Given the description of an element on the screen output the (x, y) to click on. 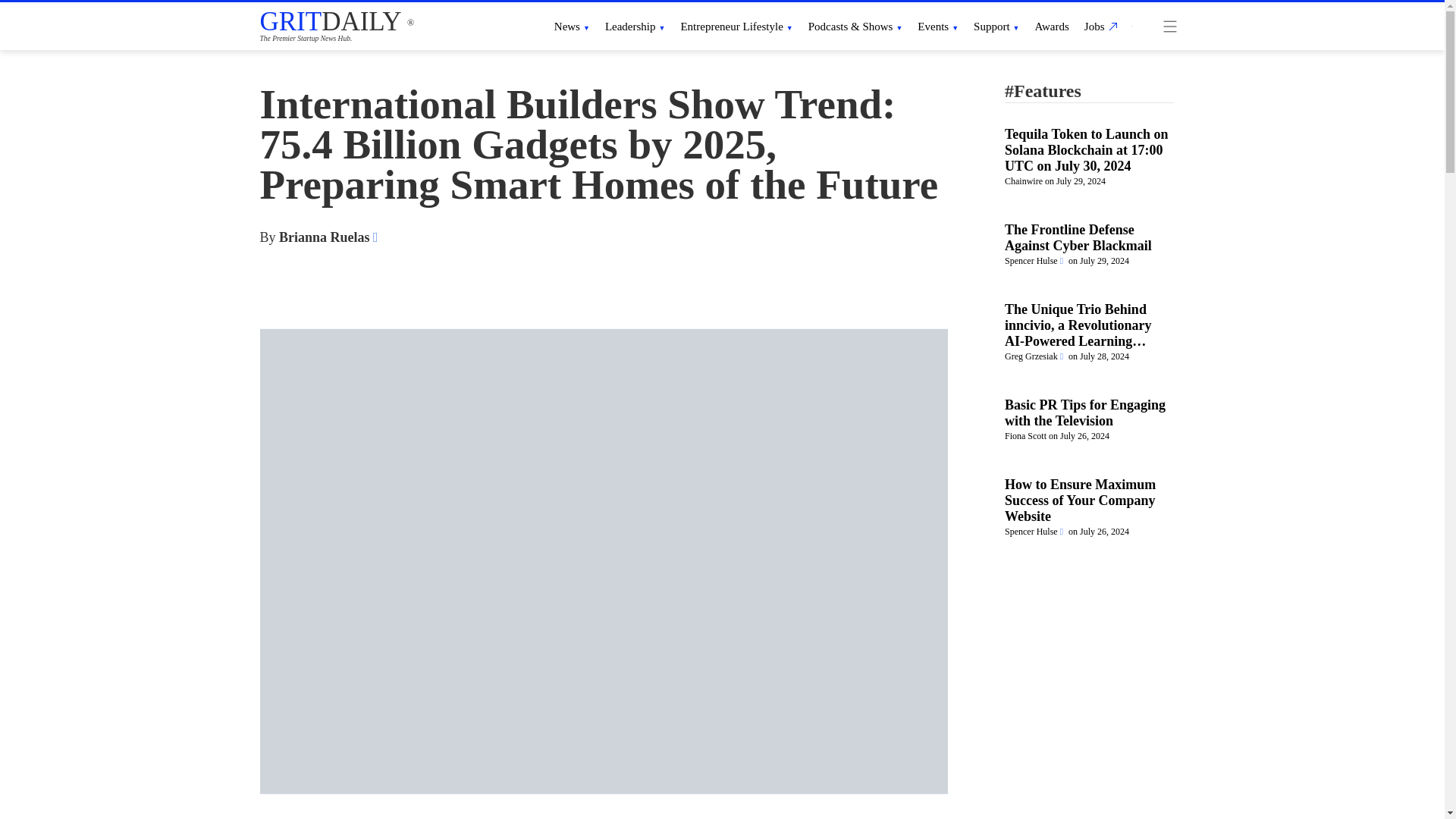
Leadership (635, 25)
Events (937, 25)
Support (996, 25)
Jobs (1098, 25)
Entrepreneur Lifestyle (735, 25)
News (571, 25)
Awards (1051, 25)
